Given the description of an element on the screen output the (x, y) to click on. 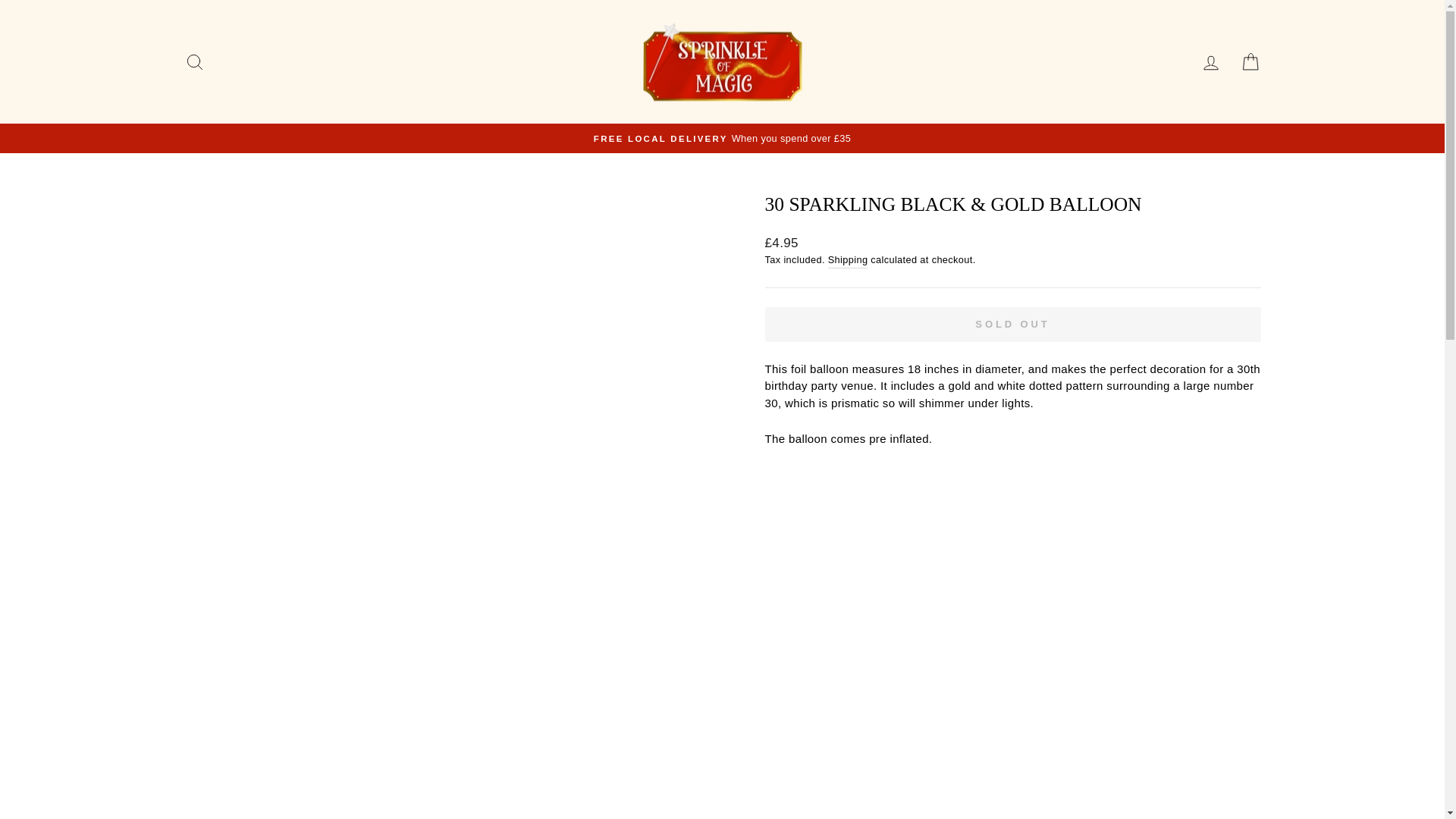
LOG IN (1210, 61)
SEARCH (194, 61)
CART (1249, 61)
Shipping (847, 259)
SOLD OUT (1012, 323)
